Given the description of an element on the screen output the (x, y) to click on. 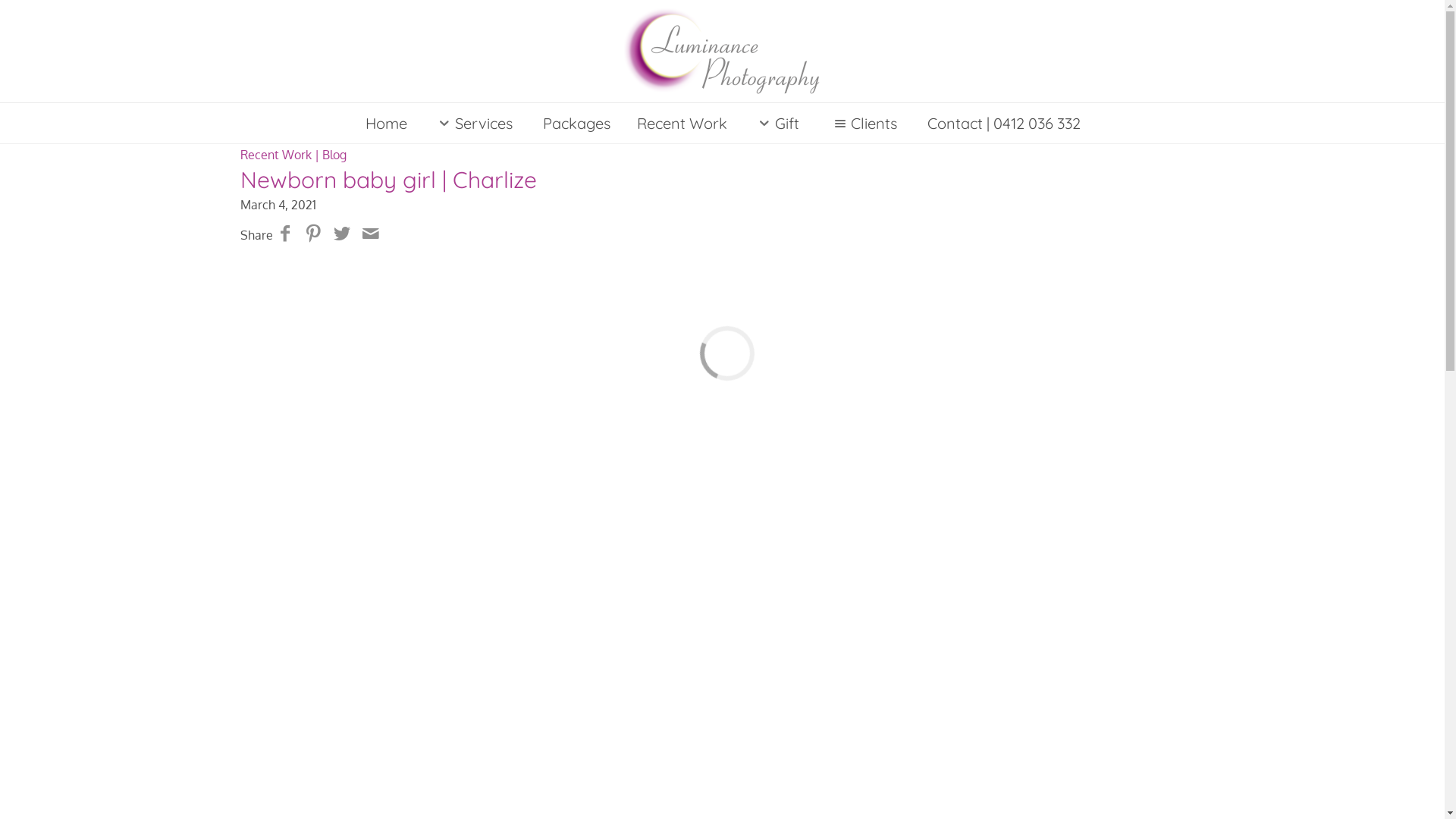
Recent Work | Blog Element type: text (292, 154)
Services Element type: text (472, 123)
Contact | 0412 036 332 Element type: text (1002, 123)
Home Element type: text (385, 123)
Packages Element type: text (576, 123)
Clients Element type: text (862, 123)
Recent Work Element type: text (681, 123)
Gift Element type: text (776, 123)
